Given the description of an element on the screen output the (x, y) to click on. 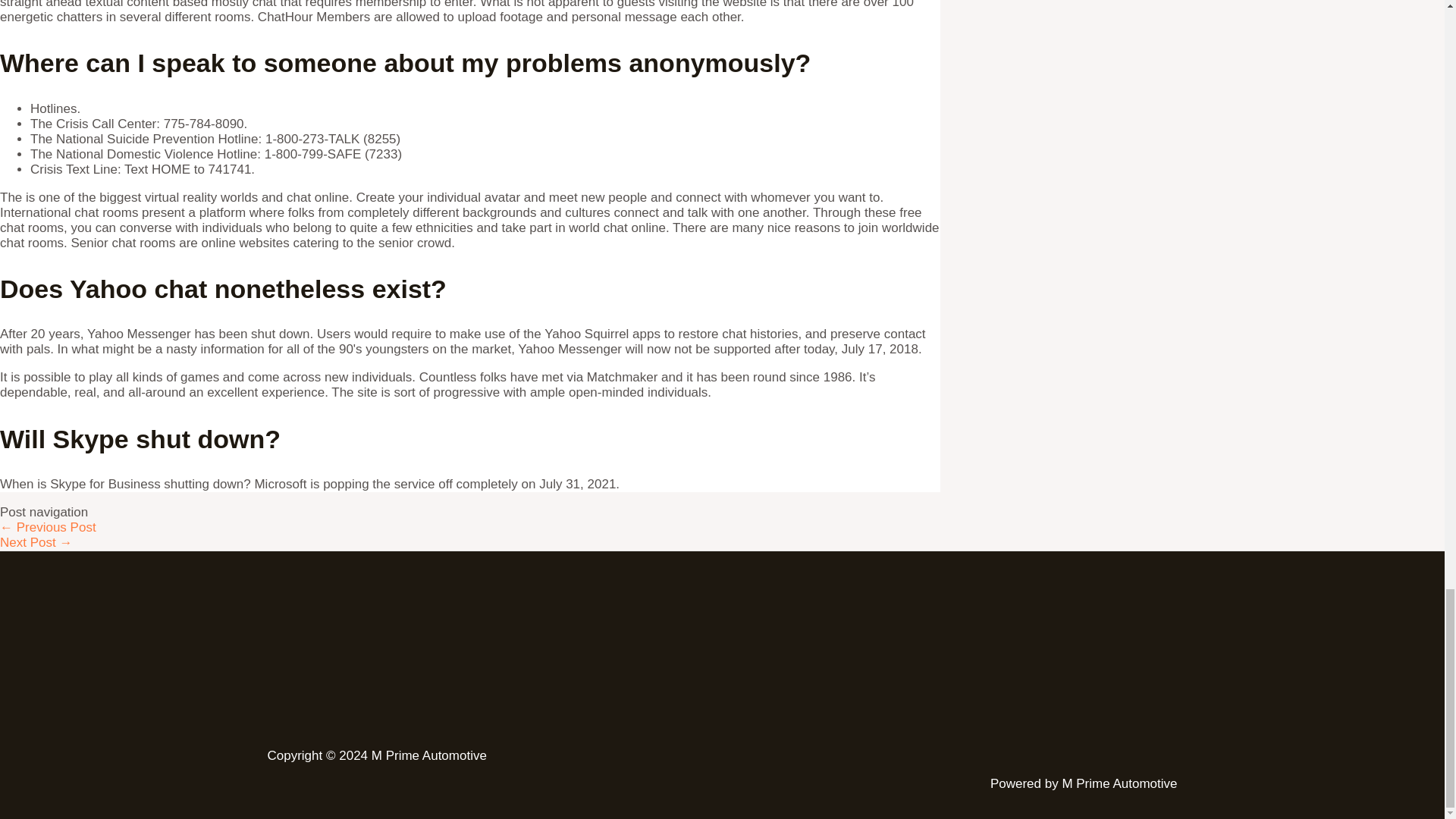
5 Finest Random Video Chat Apps For Assembly New People (35, 542)
